Given the description of an element on the screen output the (x, y) to click on. 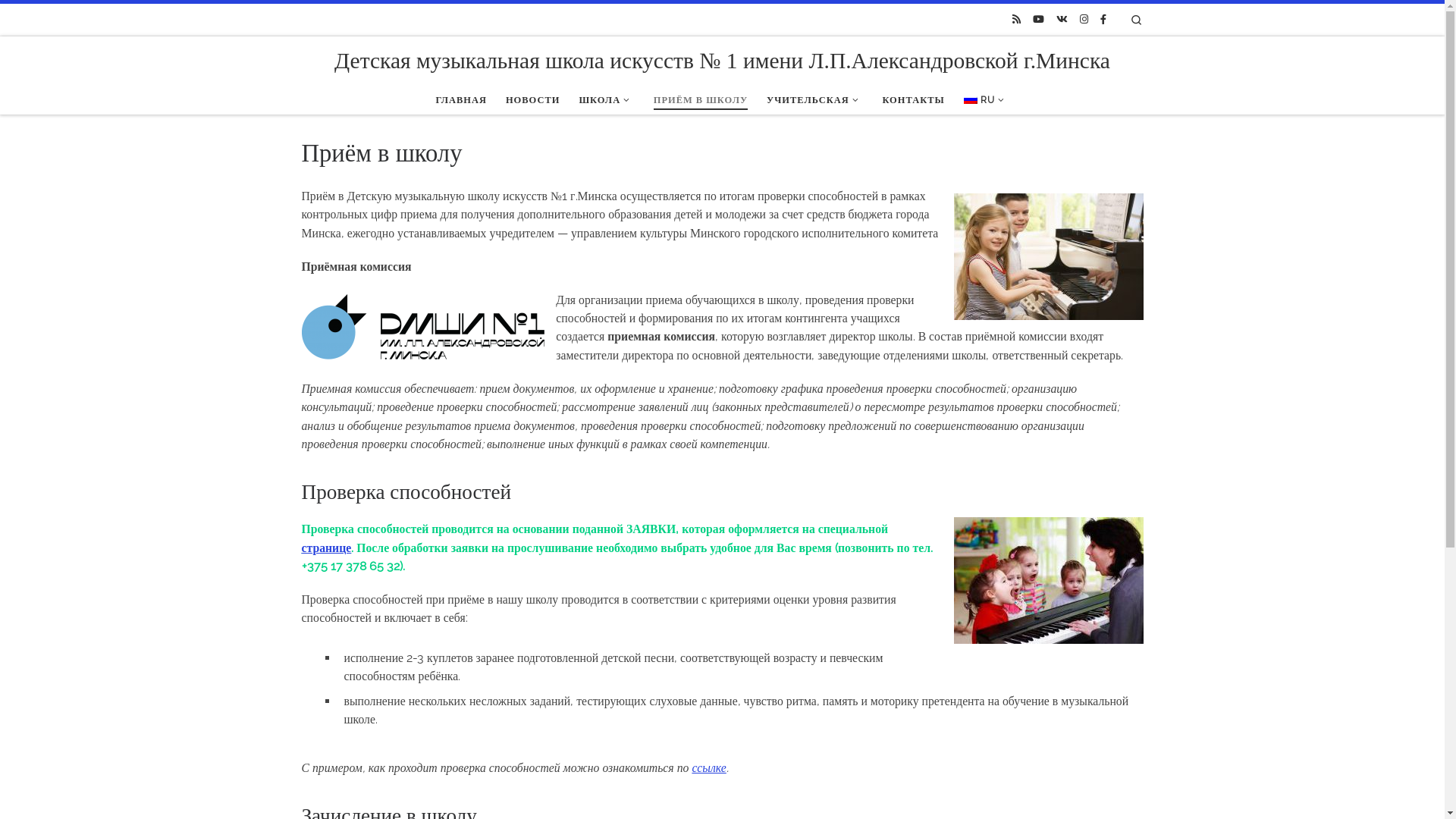
RU Element type: text (985, 99)
Search Element type: text (1135, 19)
